Given the description of an element on the screen output the (x, y) to click on. 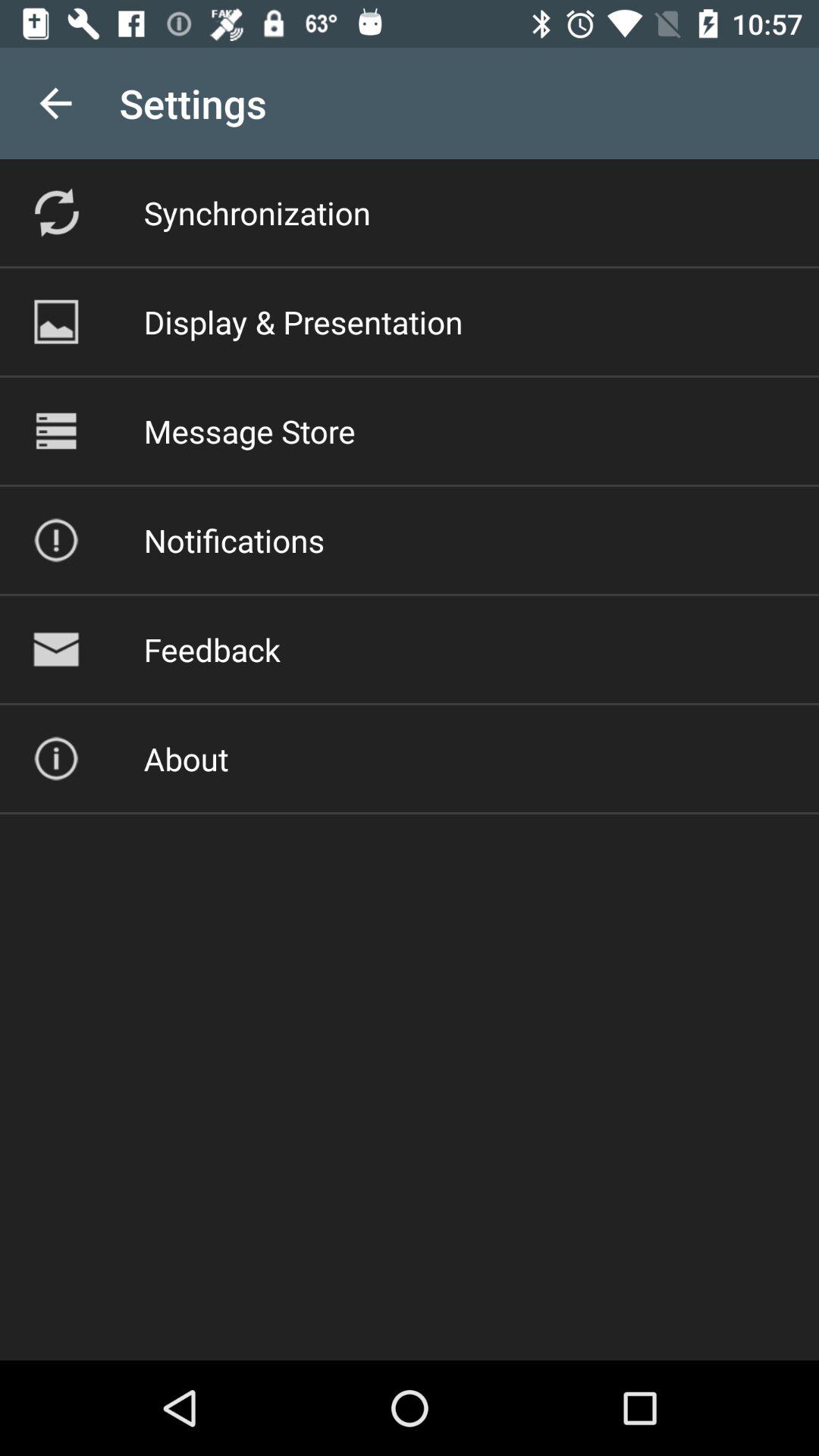
turn on display & presentation icon (302, 321)
